Given the description of an element on the screen output the (x, y) to click on. 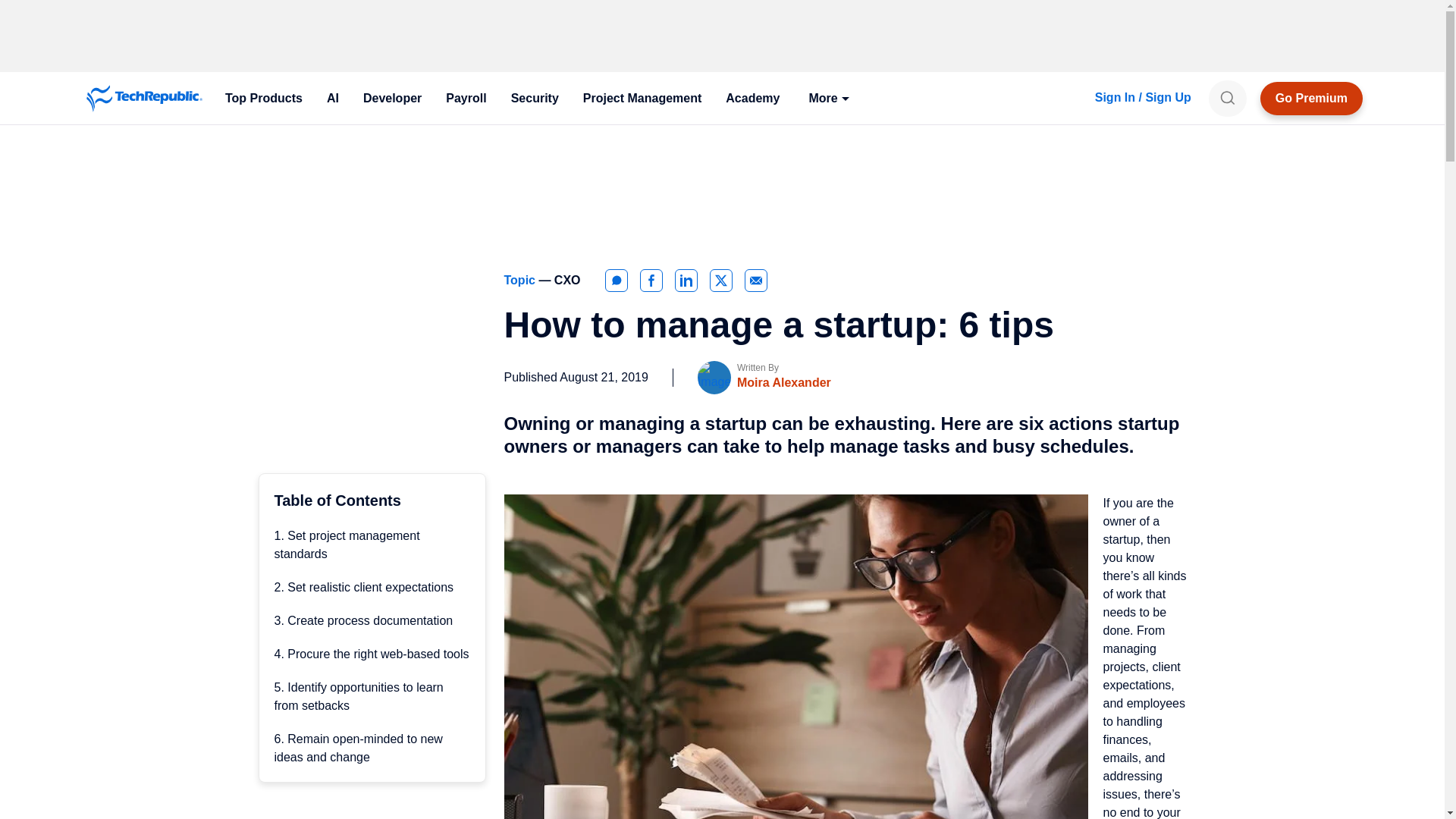
AI (332, 98)
Go Premium (1311, 98)
TechRepublic (143, 98)
4. Procure the right web-based tools (371, 653)
1. Set project management standards (347, 544)
Payroll (465, 98)
Security (534, 98)
TechRepublic (143, 98)
Top Products (263, 98)
3. Create process documentation (363, 620)
Project Management (641, 98)
5. Identify opportunities to learn from setbacks (359, 695)
Developer (392, 98)
TechRepublic (143, 98)
TechRepublic Premium (1311, 98)
